Given the description of an element on the screen output the (x, y) to click on. 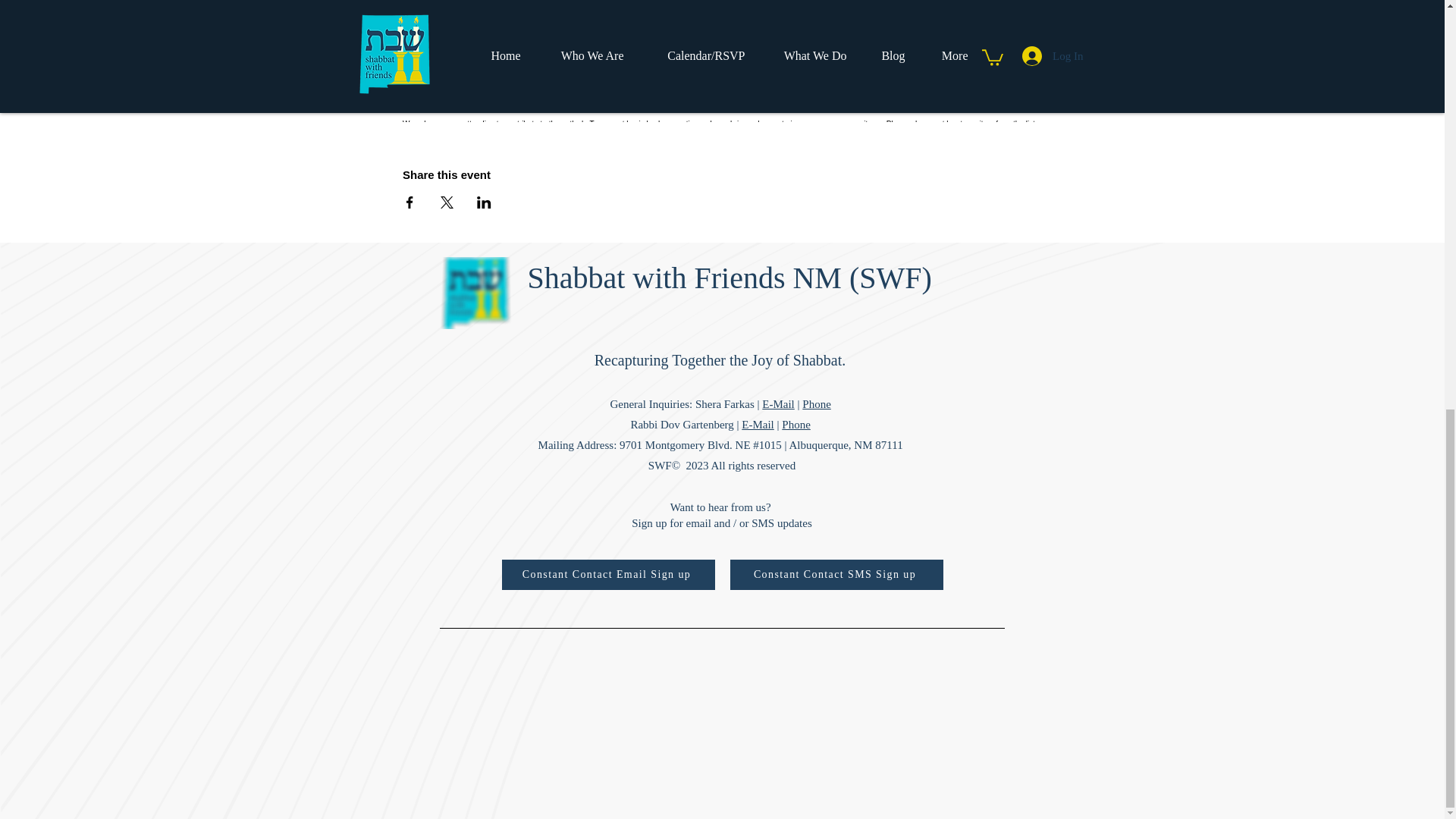
E-Mail (757, 424)
E-Mail (777, 404)
Phone (795, 424)
Phone (816, 404)
Constant Contact SMS Sign up (835, 574)
Constant Contact Email Sign up (608, 574)
Shabbat with Friends gathering, (493, 32)
